Given the description of an element on the screen output the (x, y) to click on. 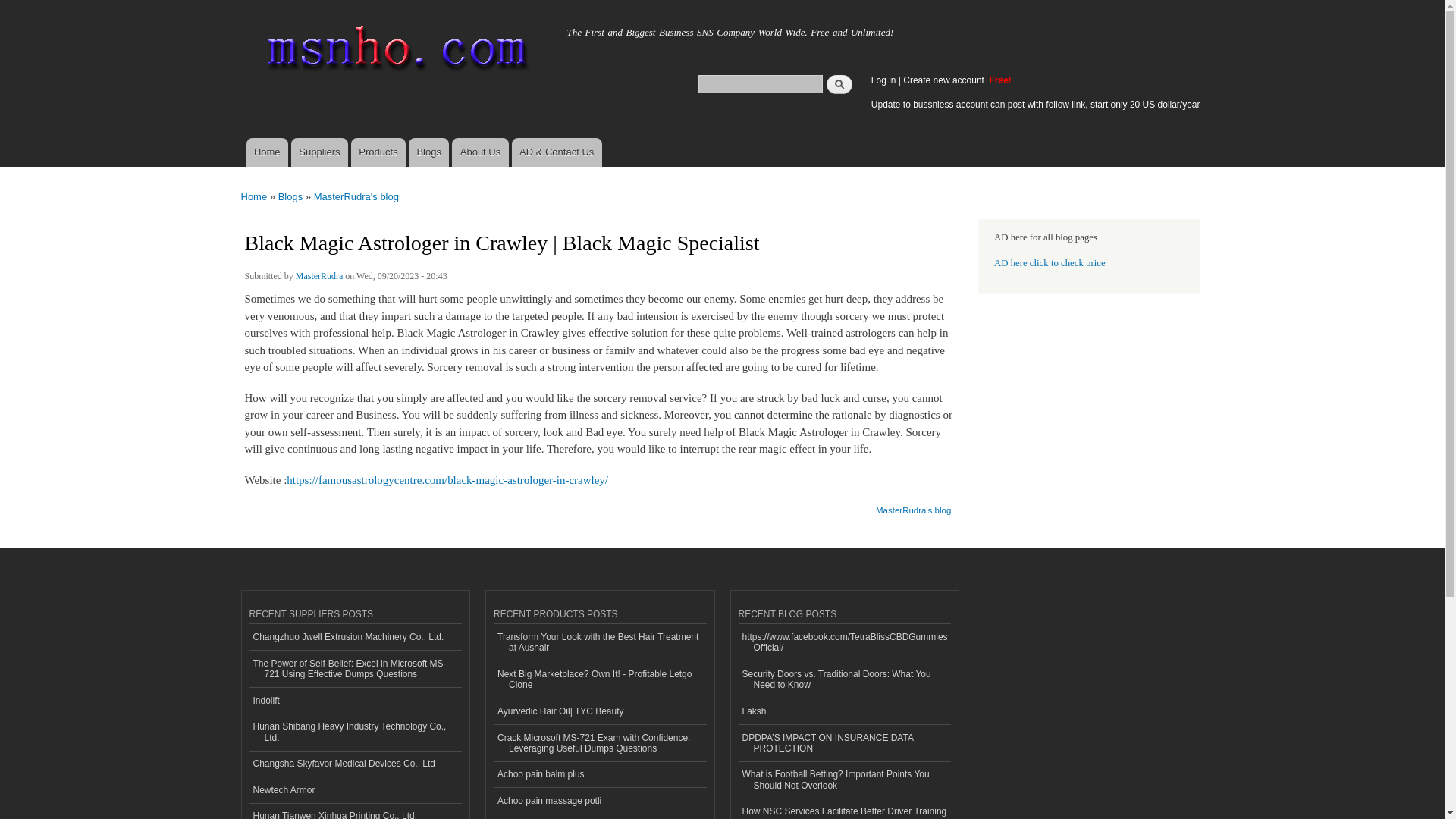
Indolift (354, 700)
About us (479, 152)
Newtech Armor (354, 790)
Home (394, 51)
msnho.com (282, 28)
Hunan Tianwen Xinhua Printing Co., Ltd. (354, 811)
Suppliers (319, 152)
Unlock Market Domination: Launch Your Own Letgo (599, 816)
Transform Your Look with the Best Hair Treatment at Aushair (599, 642)
MasterRudra's blog (913, 505)
Create new account (944, 79)
Changzhuo Jwell Extrusion Machinery Co., Ltd. (354, 637)
MasterRudra's blog (356, 196)
